Given the description of an element on the screen output the (x, y) to click on. 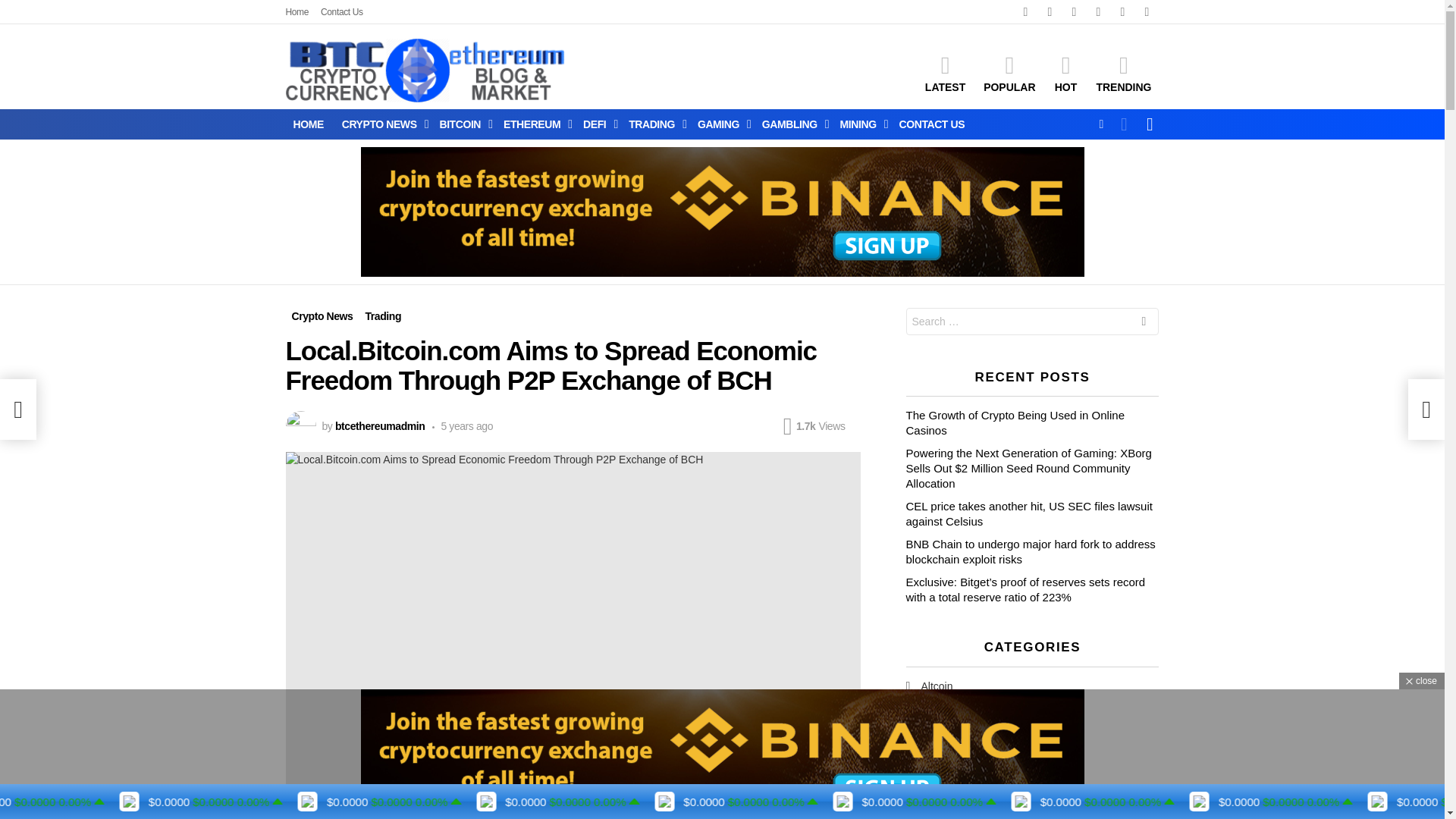
POPULAR (1008, 73)
Tumblr (1097, 11)
HOME (307, 124)
BITCOIN (461, 124)
Pinterest (1121, 11)
Facebook (1048, 11)
TRENDING (1122, 73)
LATEST (944, 73)
Home (296, 12)
Contact Us (341, 12)
HOT (1064, 73)
youtube (1146, 11)
CRYPTO NEWS (381, 124)
Twitter (1073, 11)
ETHEREUM (534, 124)
